Given the description of an element on the screen output the (x, y) to click on. 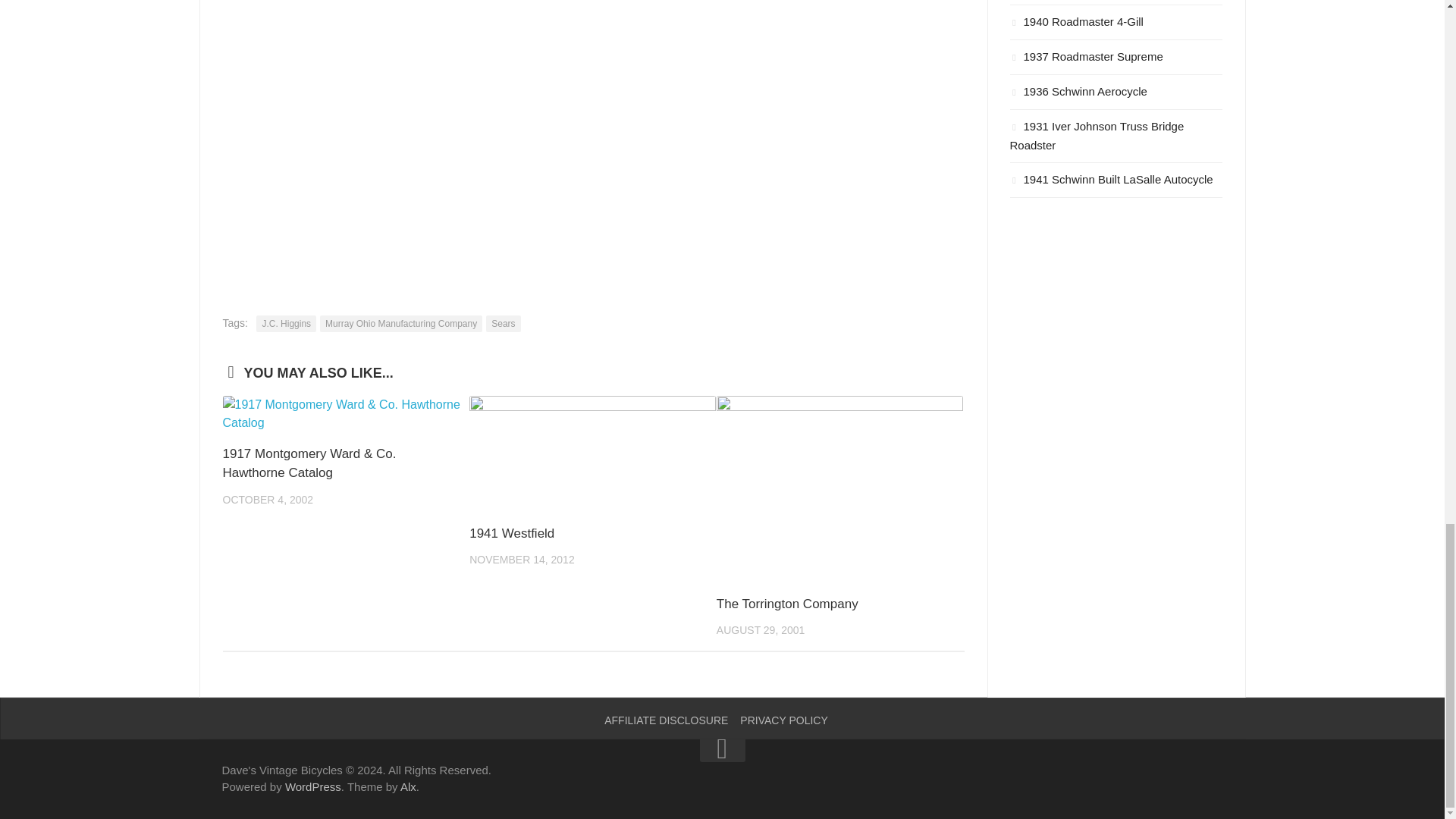
J.C. Higgins (285, 323)
Murray Ohio Manufacturing Company (400, 323)
1941 Westfield (511, 533)
Sears (502, 323)
The Torrington Company (787, 603)
